Given the description of an element on the screen output the (x, y) to click on. 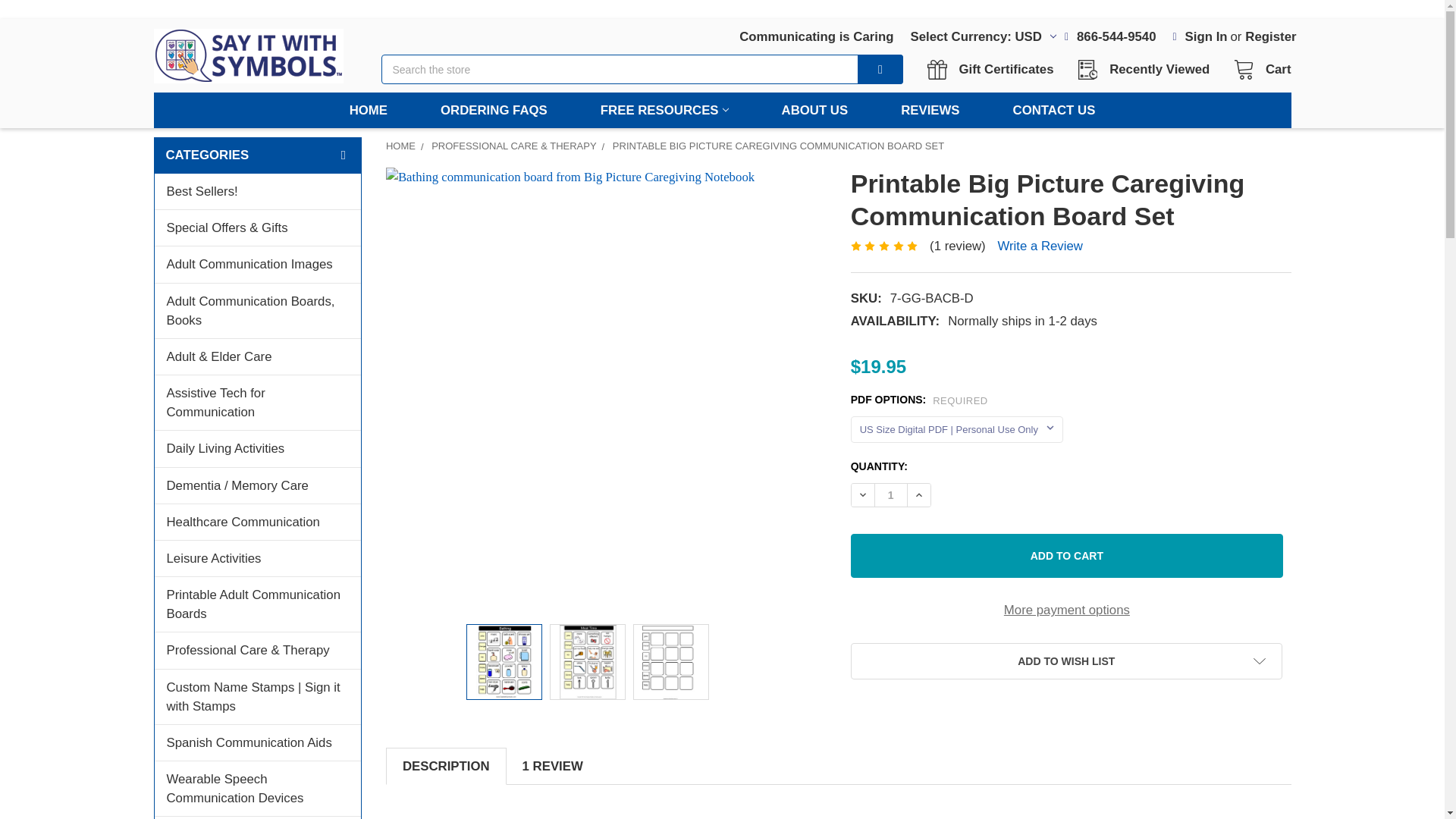
Search (869, 69)
Cart (1257, 69)
ORDERING FAQS (493, 109)
Register (1269, 31)
Cart (1257, 69)
Gift Certificates (994, 69)
Say it with Symbols! (247, 55)
Sign In (1200, 31)
866-544-9540 (1110, 31)
Add to Cart (1066, 555)
866-544-9540 (1110, 31)
Search (869, 69)
Gift Certificates (978, 31)
HOME (994, 69)
